Given the description of an element on the screen output the (x, y) to click on. 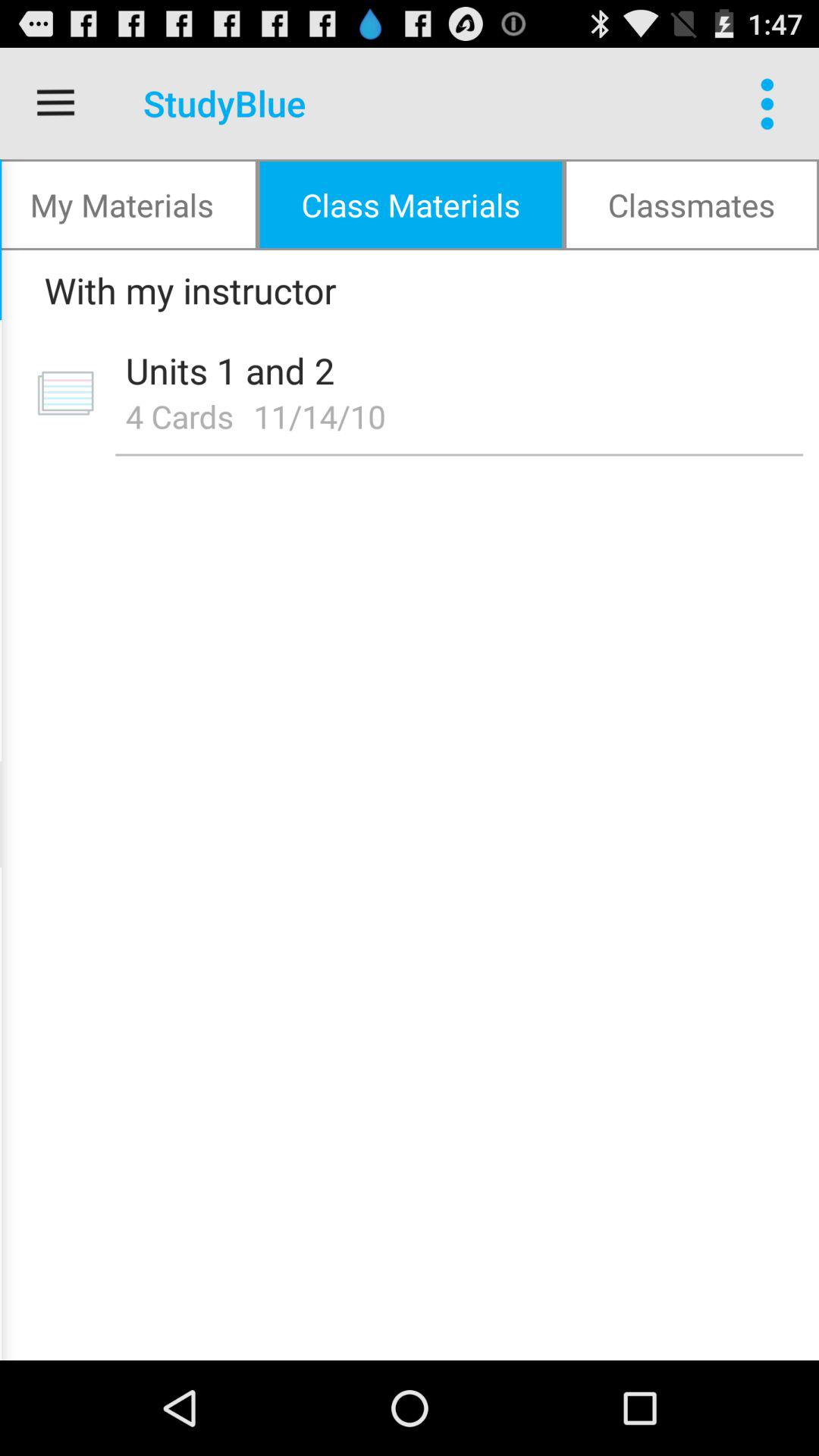
press icon above 4 cards (454, 370)
